Given the description of an element on the screen output the (x, y) to click on. 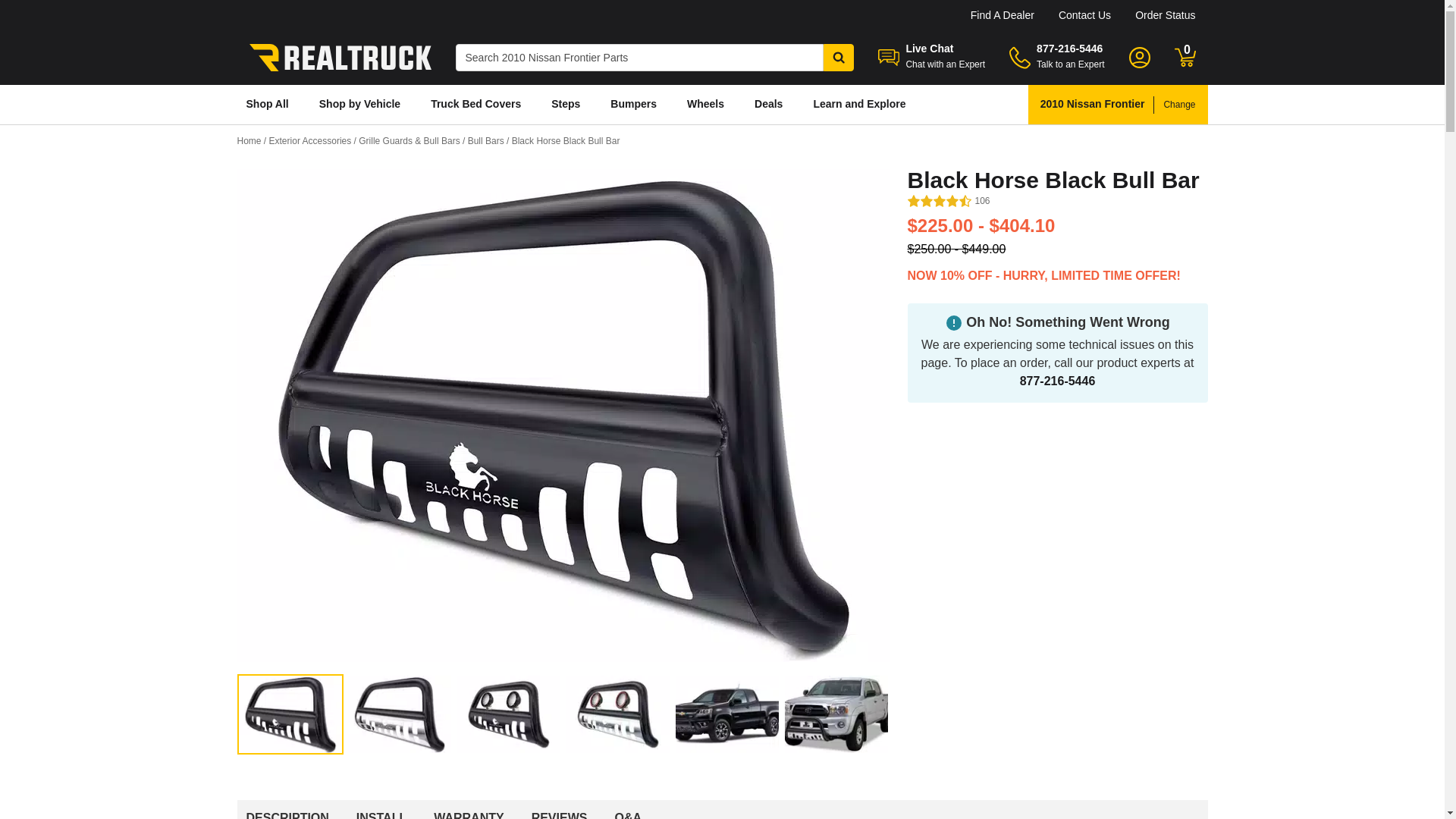
Order Status (1165, 15)
0 (1184, 56)
Live Chat (929, 48)
Find A Dealer (1002, 15)
Chat with an Expert (945, 64)
Contact Us (1084, 15)
